Given the description of an element on the screen output the (x, y) to click on. 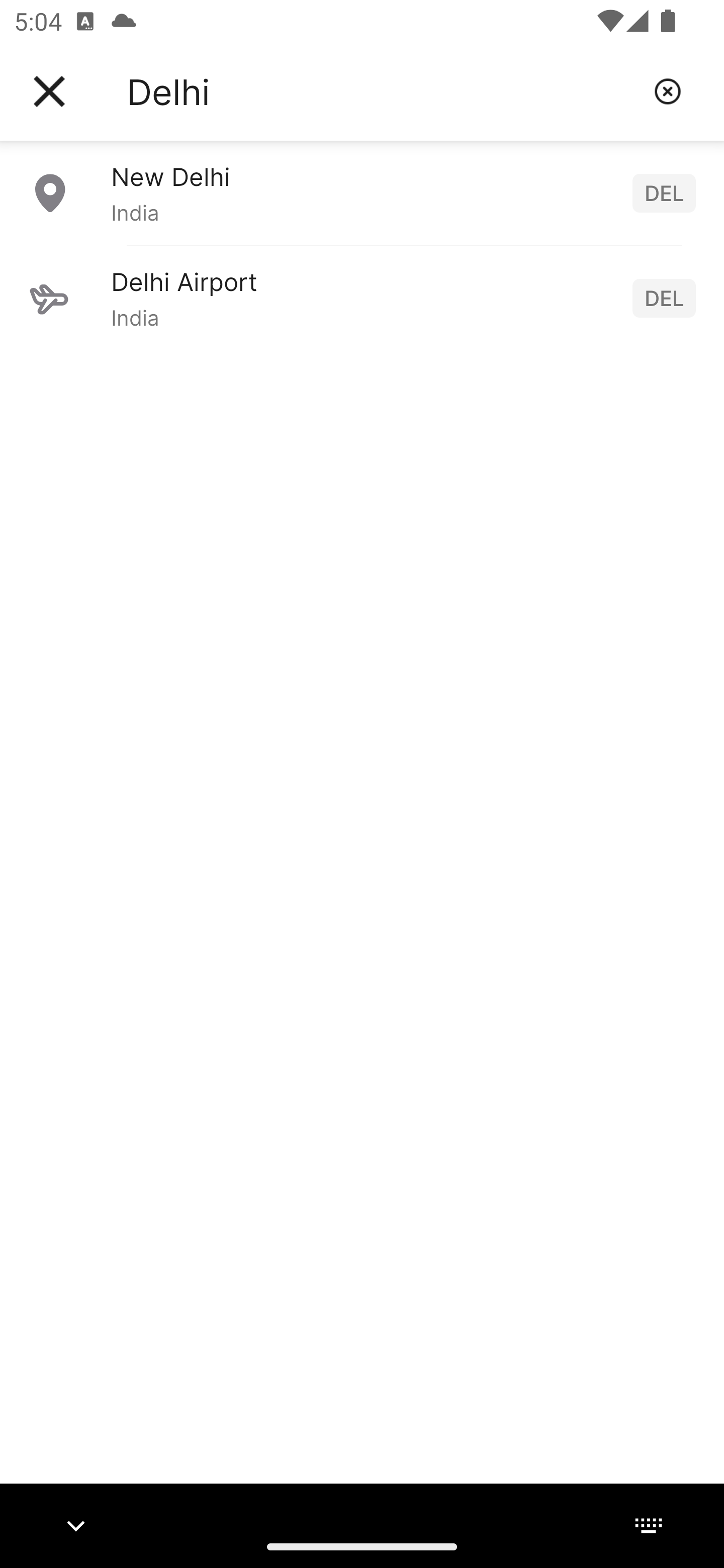
Delhi (382, 91)
New Delhi India DEL (362, 192)
Delhi Airport India DEL (362, 297)
